Given the description of an element on the screen output the (x, y) to click on. 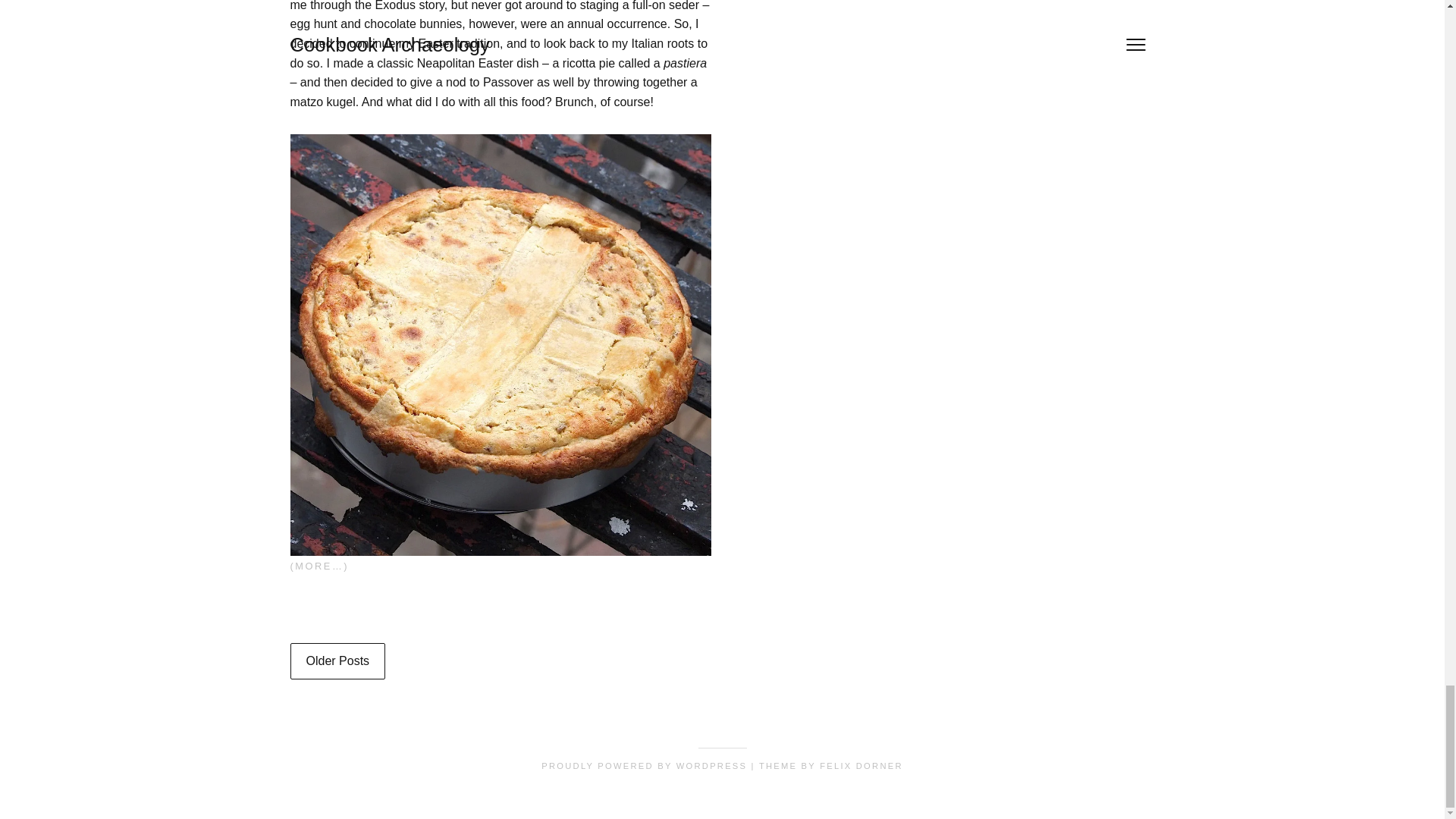
PROUDLY POWERED BY WORDPRESS (643, 765)
Older Posts (337, 660)
THEME BY FELIX DORNER (830, 765)
